Given the description of an element on the screen output the (x, y) to click on. 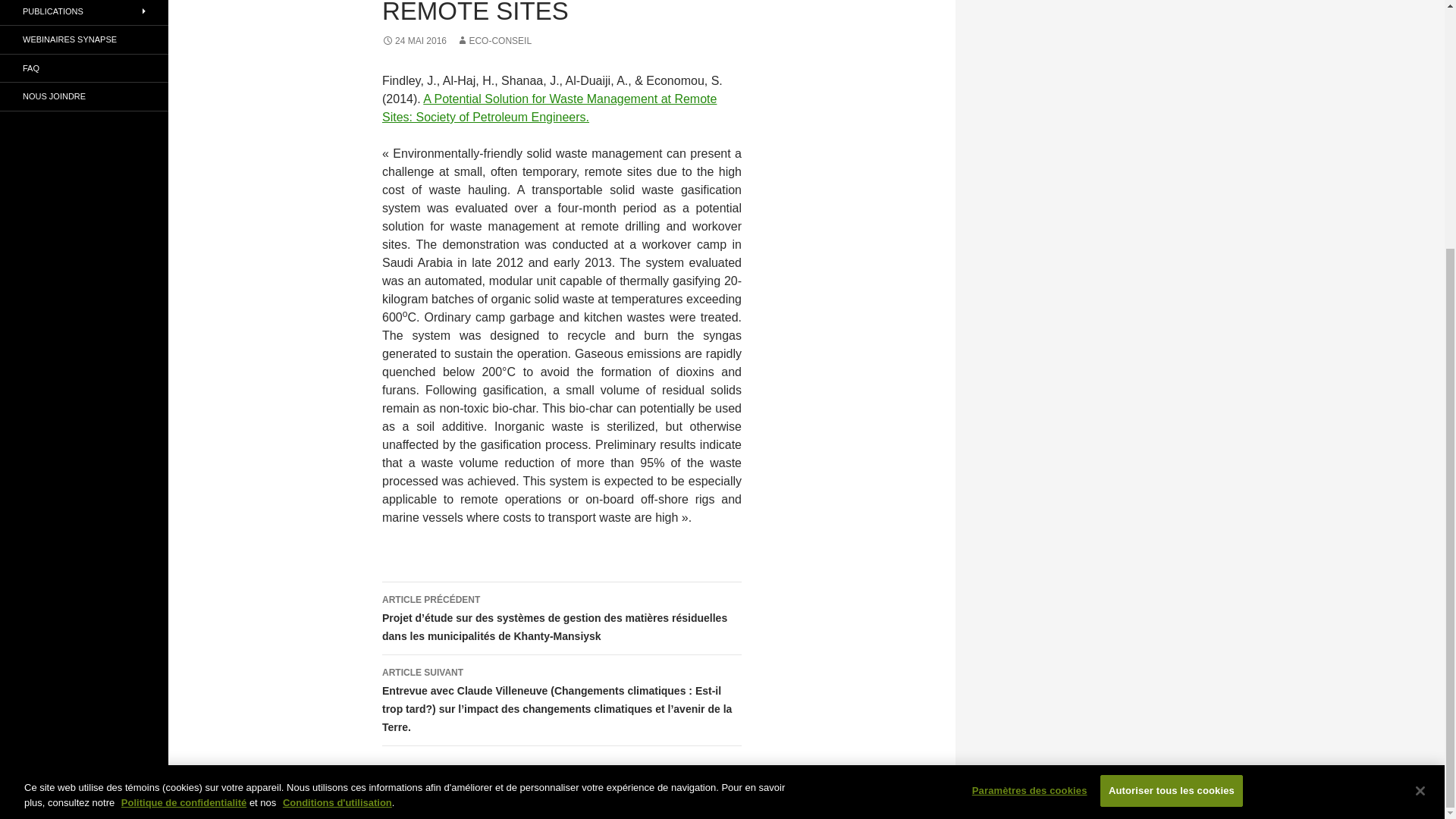
ECO-CONSEIL (494, 40)
24 MAI 2016 (413, 40)
